Given the description of an element on the screen output the (x, y) to click on. 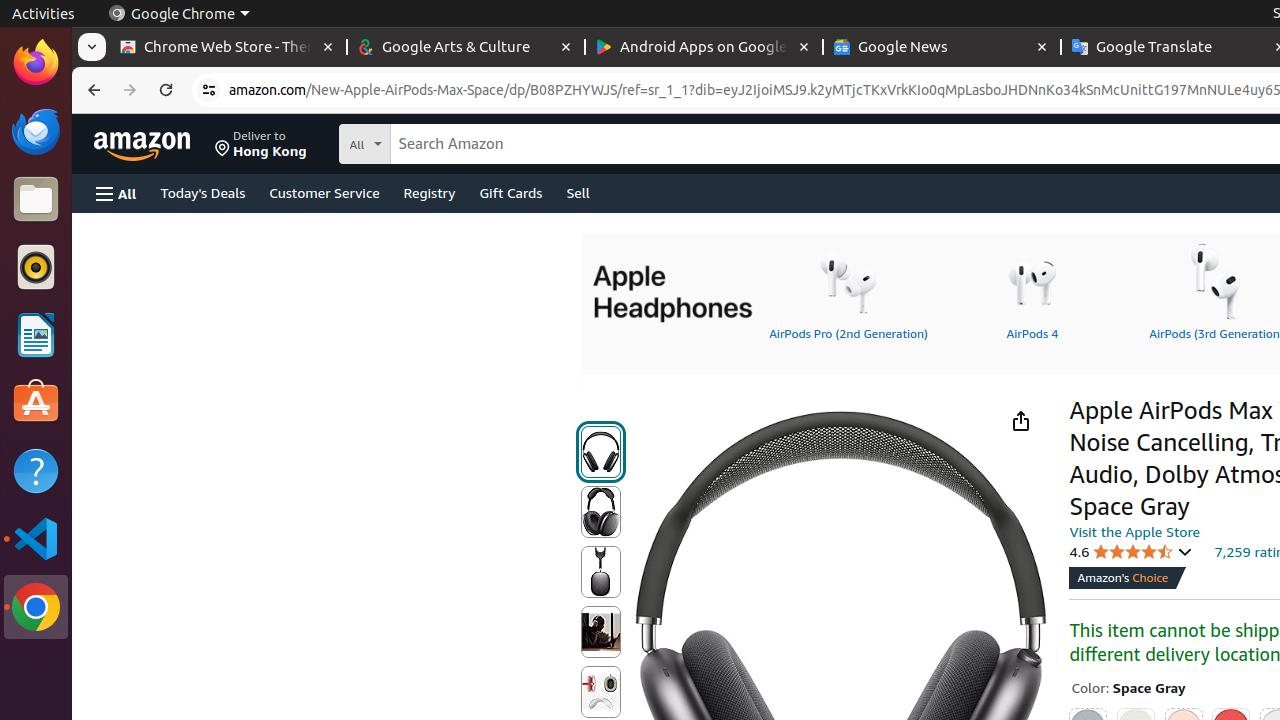
Today's Deals Element type: link (203, 192)
Gift Cards Element type: link (511, 192)
All Departments Element type: menu-item (439, 141)
Google Chrome Element type: menu (179, 13)
Open Menu Element type: push-button (116, 193)
